Given the description of an element on the screen output the (x, y) to click on. 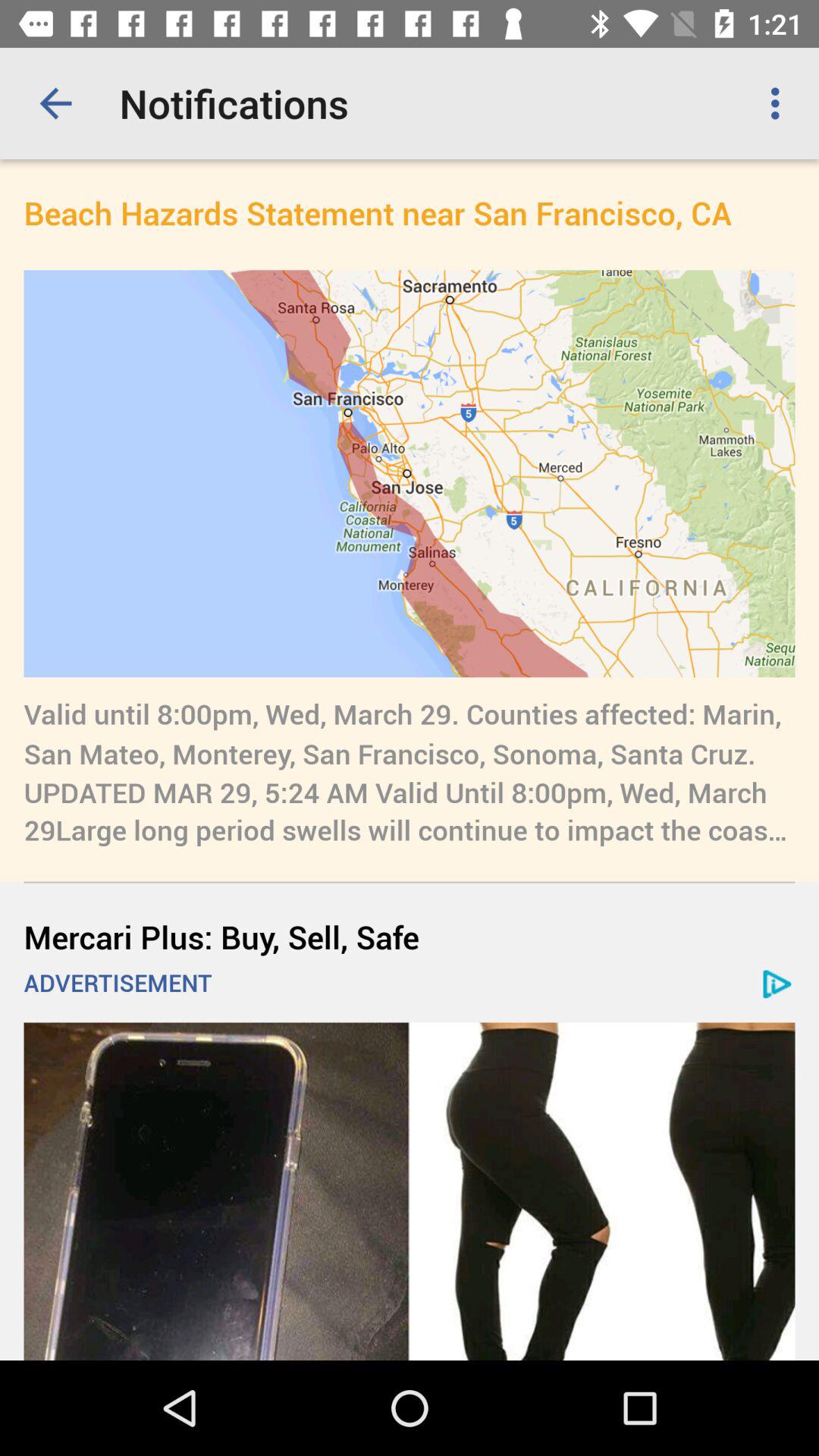
select the app next to the notifications app (779, 103)
